Given the description of an element on the screen output the (x, y) to click on. 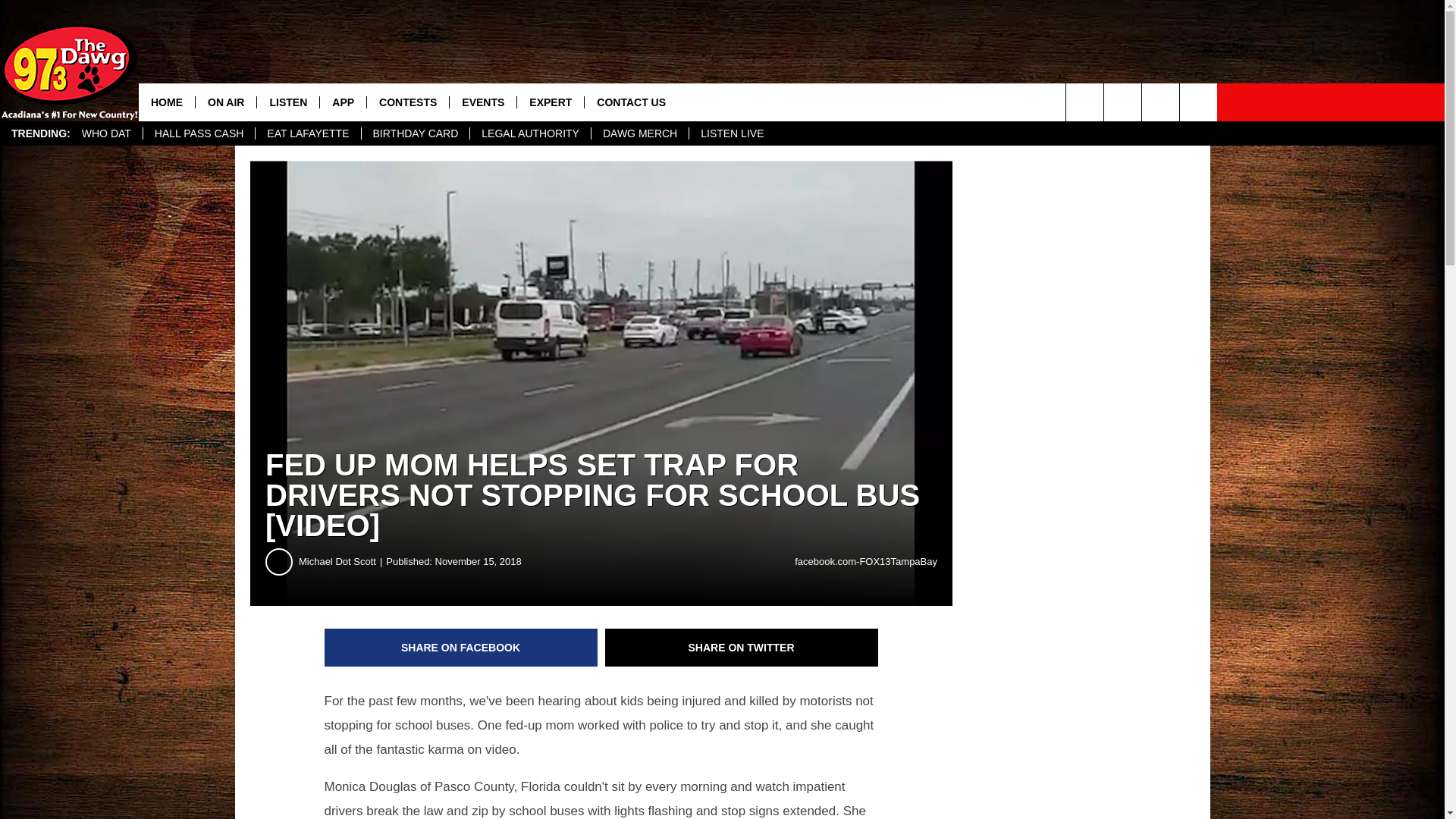
Share on Facebook (460, 647)
EVENTS (482, 102)
LISTEN (287, 102)
WHO DAT (105, 133)
LISTEN LIVE (731, 133)
Share on Twitter (741, 647)
LEGAL AUTHORITY (529, 133)
EXPERT (549, 102)
ON AIR (225, 102)
DAWG MERCH (639, 133)
